Given the description of an element on the screen output the (x, y) to click on. 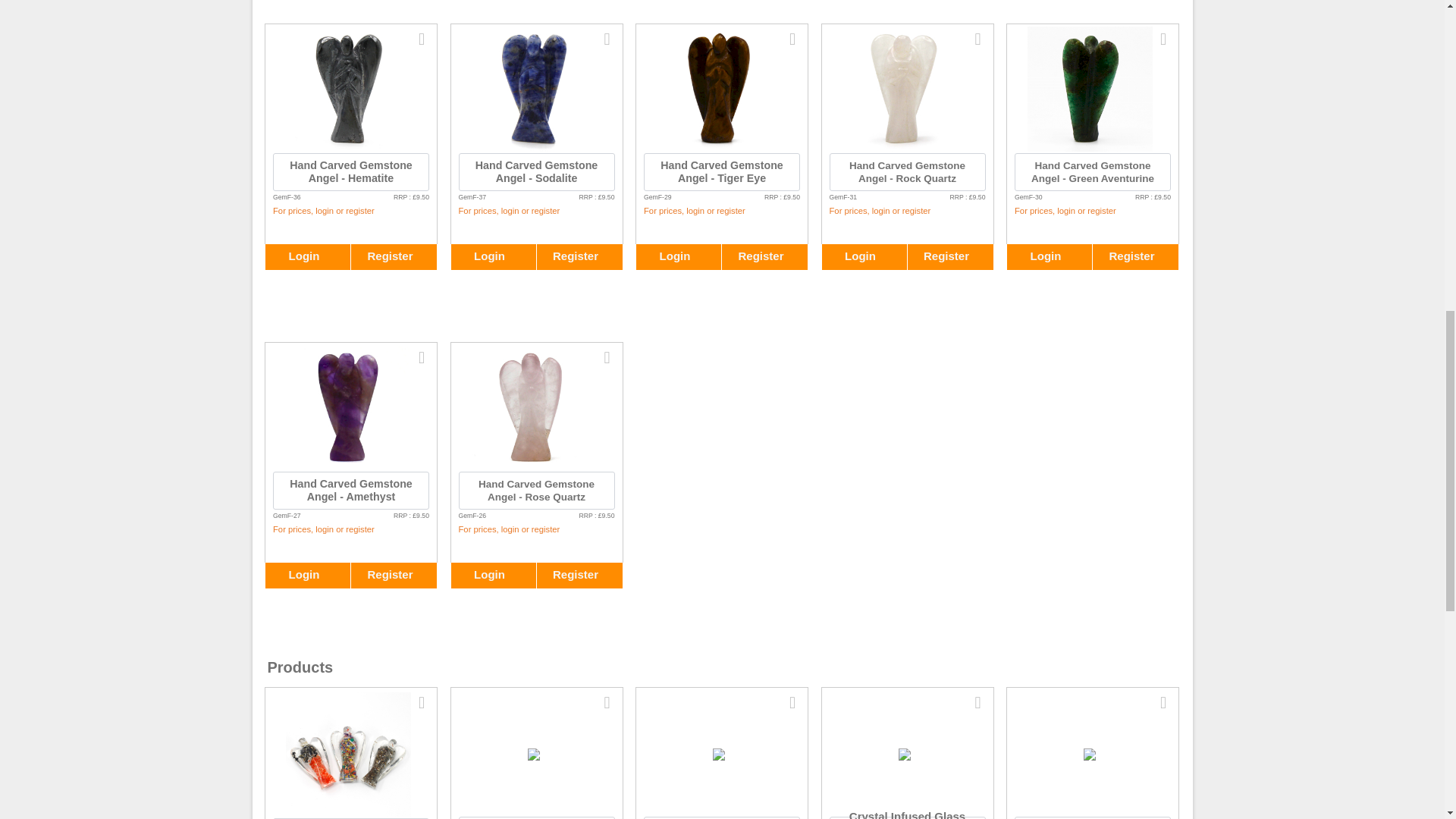
More info (421, 39)
Hand Carved Gemstone Angel - Hematite (348, 145)
More info (606, 39)
Hand Carved Gemstone Angel - Sodalite (533, 145)
